Given the description of an element on the screen output the (x, y) to click on. 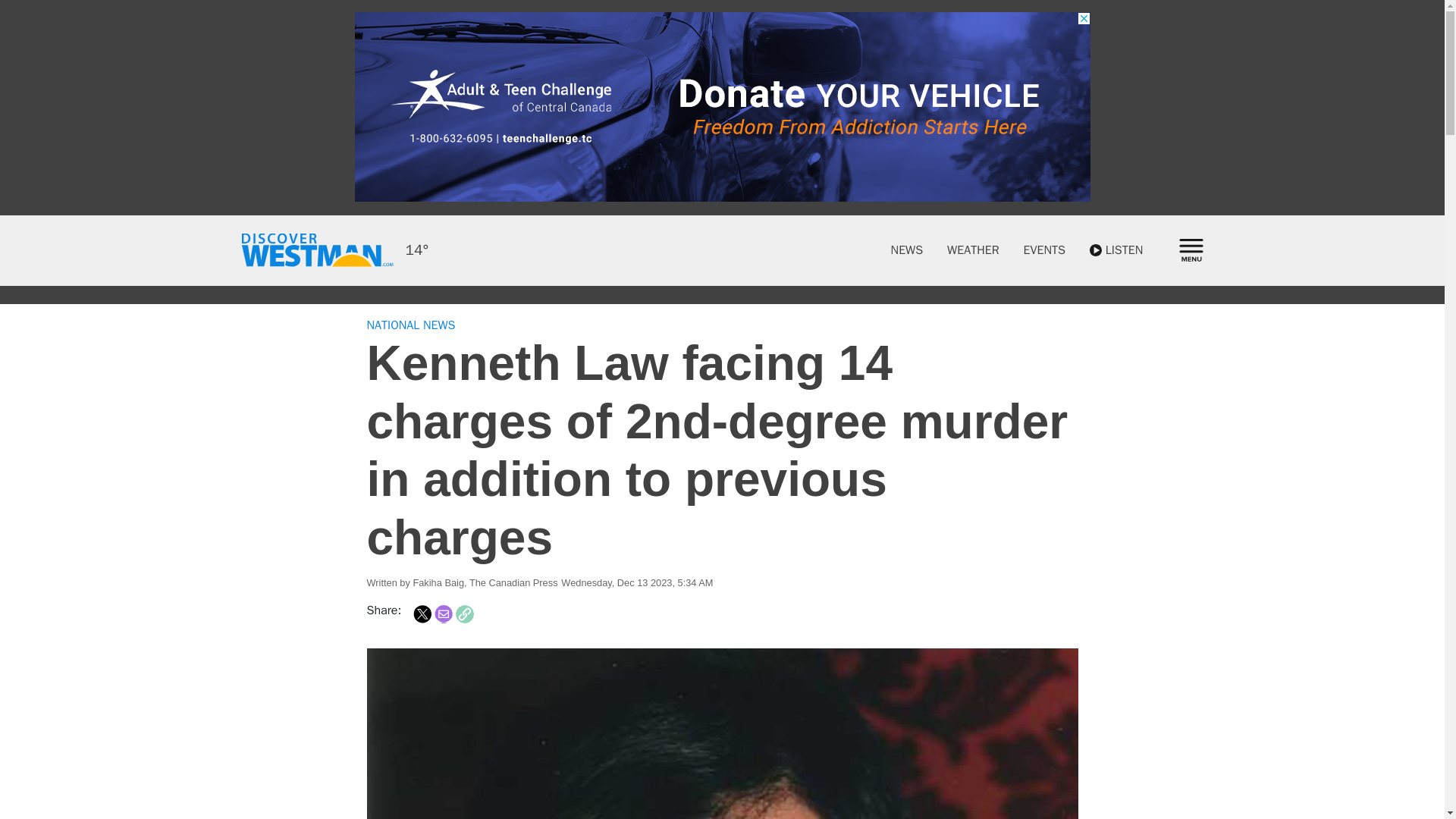
Copy Link (464, 614)
Share to Email (442, 614)
